Given the description of an element on the screen output the (x, y) to click on. 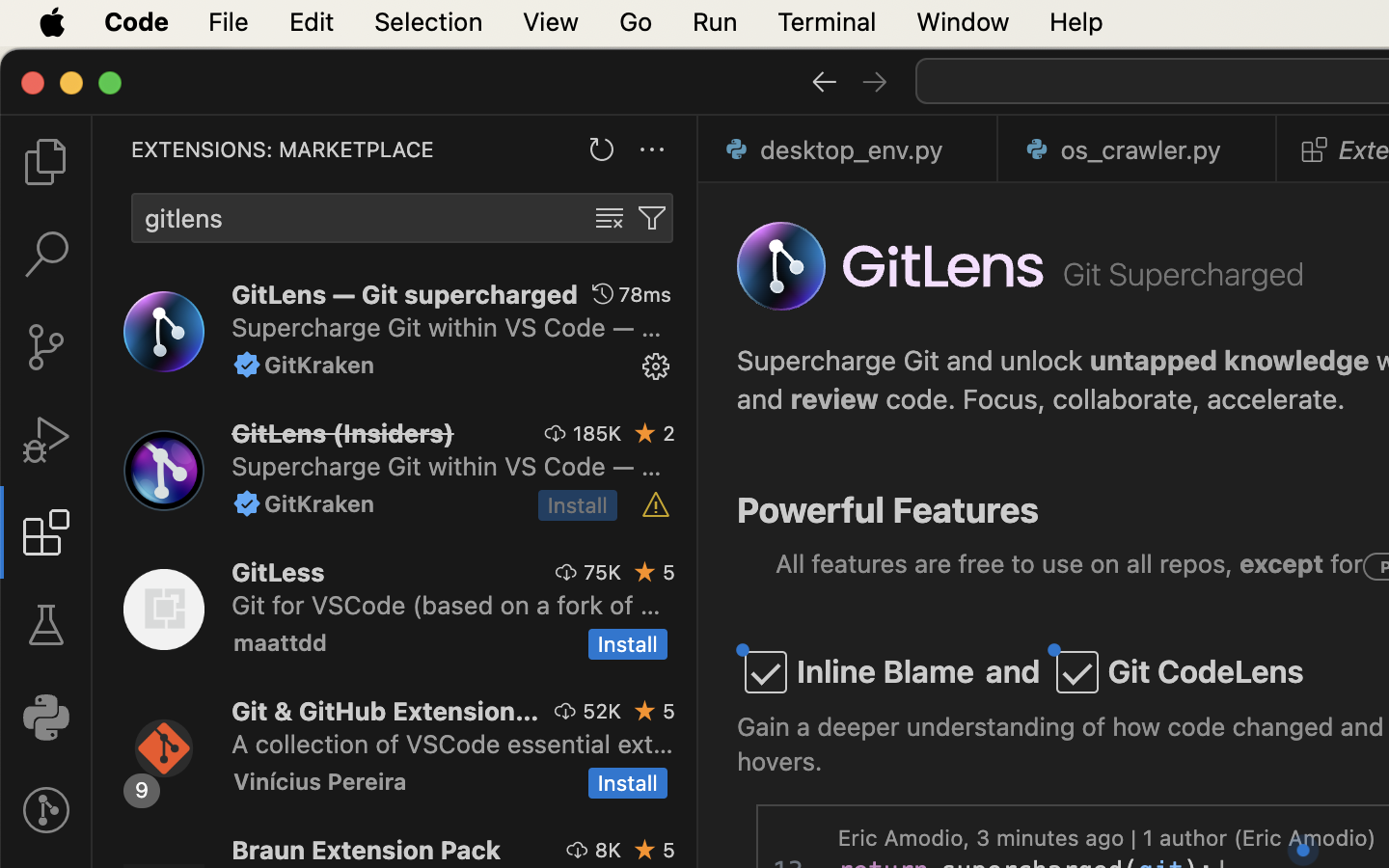
0  Element type: AXRadioButton (46, 624)
 Element type: AXButton (609, 217)
Supercharge Git within VS Code — Visualize code authorship at a glance via Git blame annotations and CodeLens, seamlessly navigate and explore Git repositories, gain valuable insights via rich visualizations and powerful comparison commands, and so much more Element type: AXStaticText (446, 326)
Supercharge Git and unlock Element type: AXStaticText (912, 360)
 Element type: AXStaticText (1314, 149)
